Given the description of an element on the screen output the (x, y) to click on. 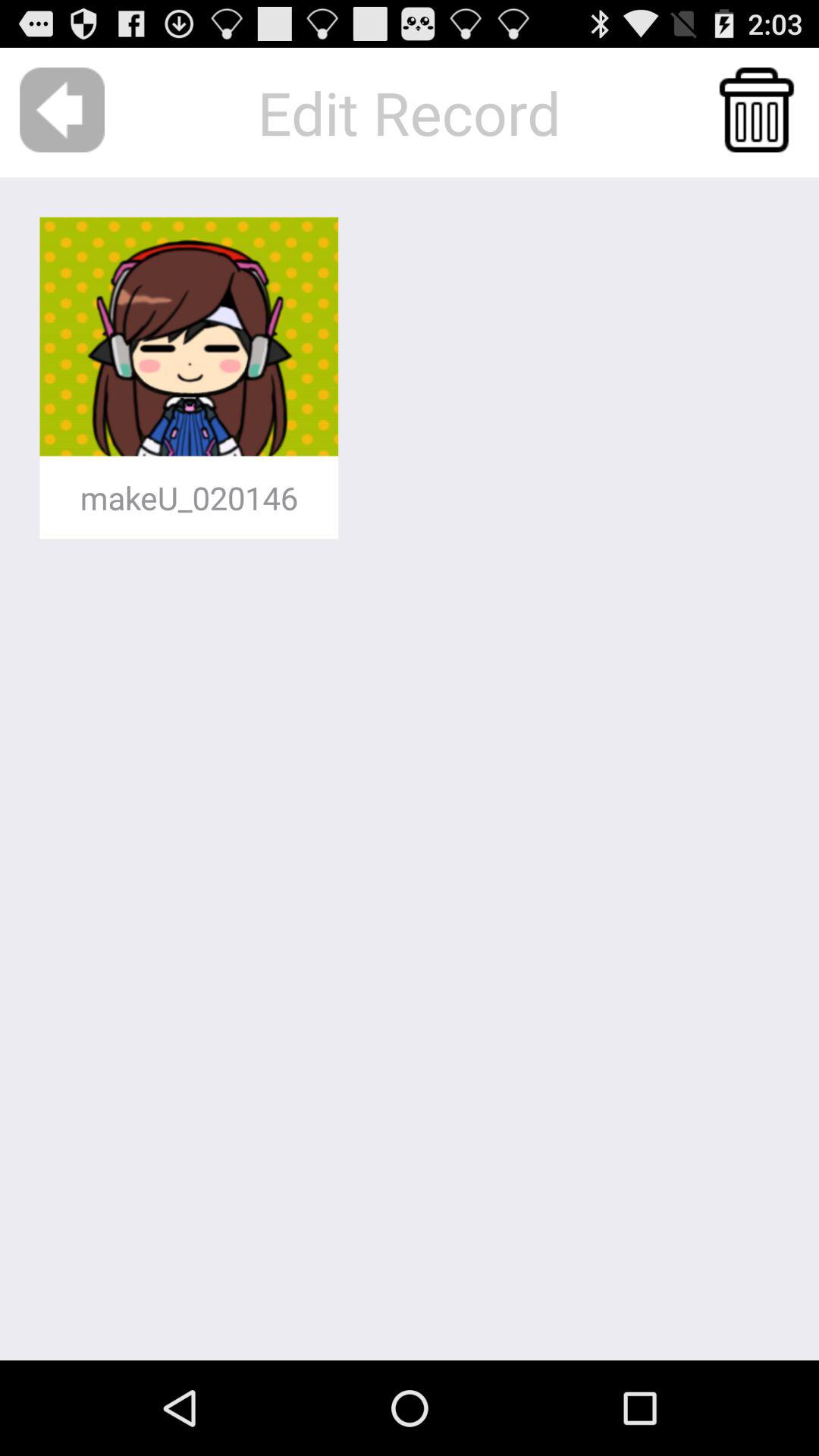
choose app next to the edit record app (756, 109)
